Given the description of an element on the screen output the (x, y) to click on. 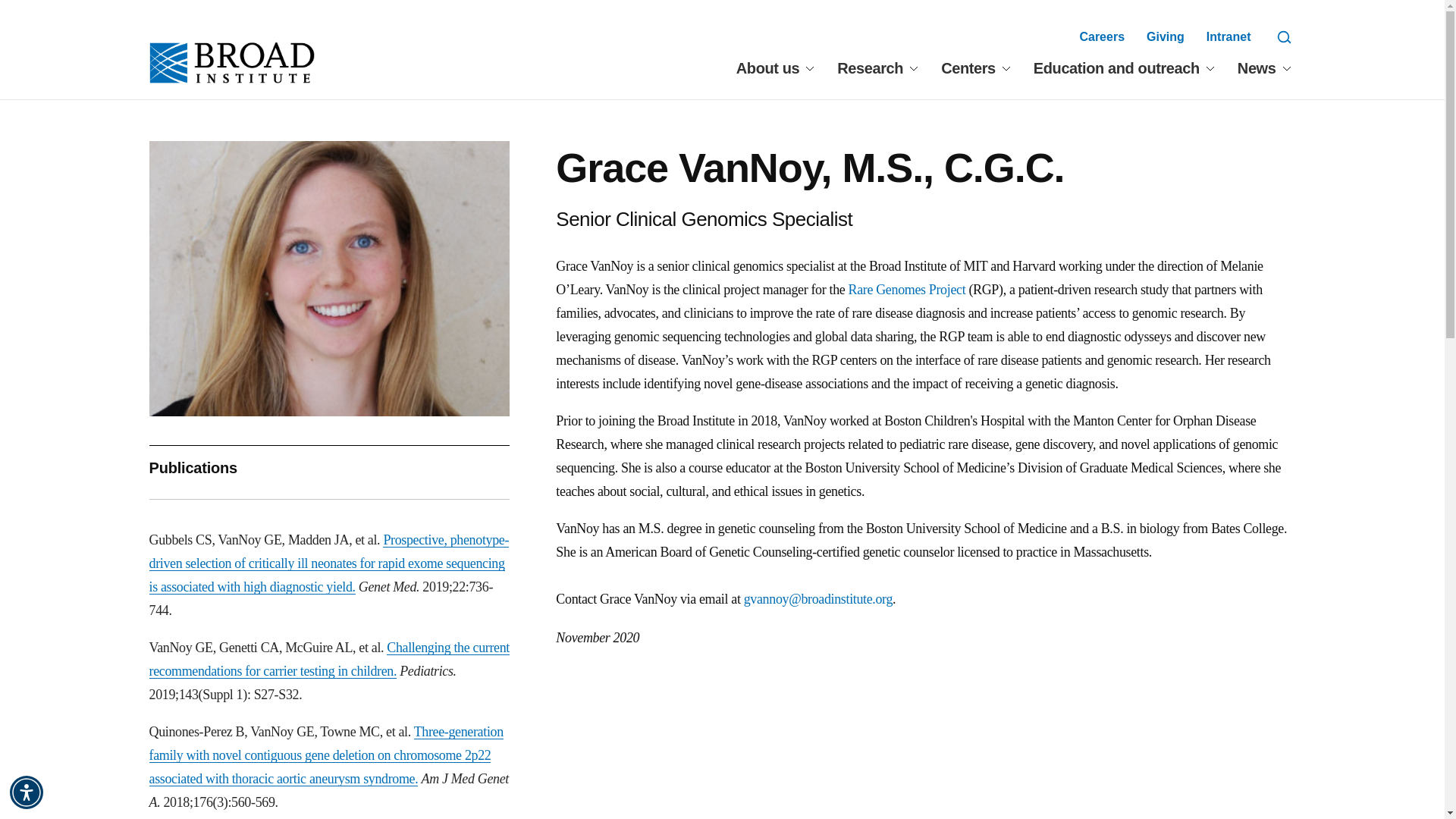
Careers (1101, 36)
Broad Institute Intranet (1228, 36)
Giving (1166, 36)
Intranet (1228, 36)
